Given the description of an element on the screen output the (x, y) to click on. 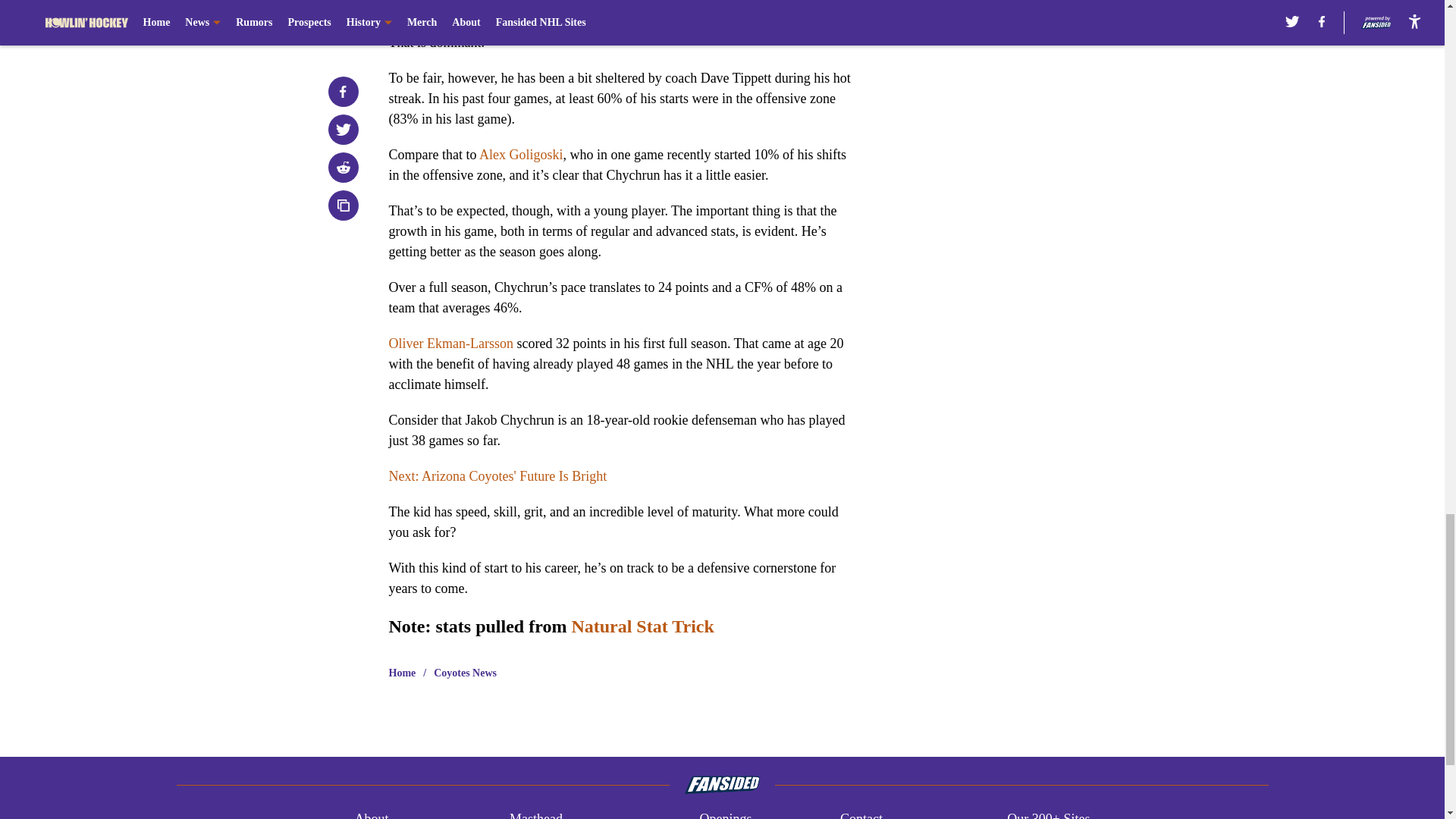
Next: Arizona Coyotes' Future Is Bright (497, 476)
About (370, 814)
Home (401, 672)
Alex Goligoski (521, 154)
Masthead (535, 814)
Coyotes News (464, 672)
Oliver Ekman-Larsson (450, 343)
Natural Stat Trick (641, 626)
Openings (724, 814)
Contact (861, 814)
